Given the description of an element on the screen output the (x, y) to click on. 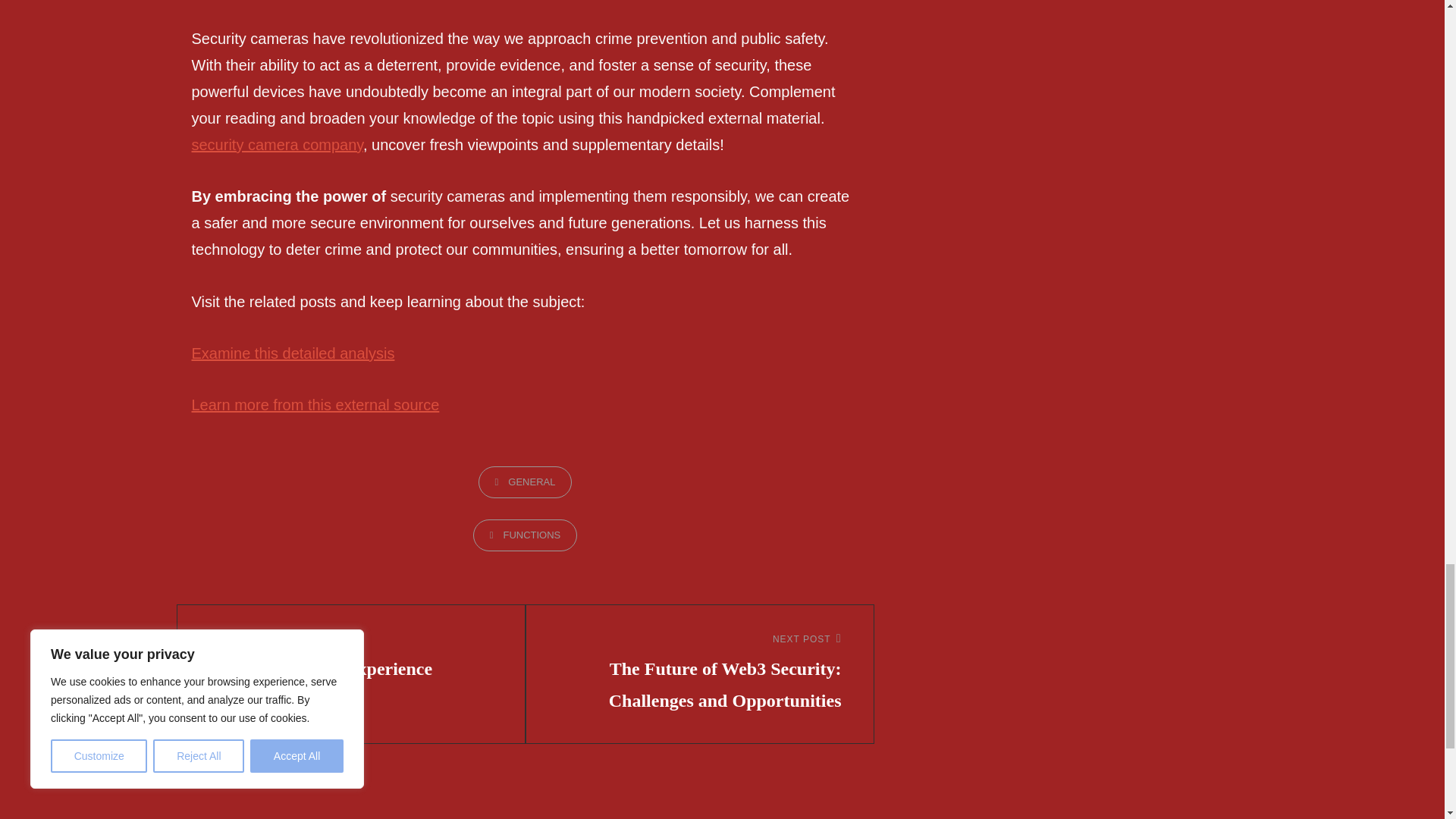
FUNCTIONS (525, 535)
Examine this detailed analysis (292, 352)
security camera company (276, 144)
Learn more from this external source (351, 657)
GENERAL (314, 404)
